Given the description of an element on the screen output the (x, y) to click on. 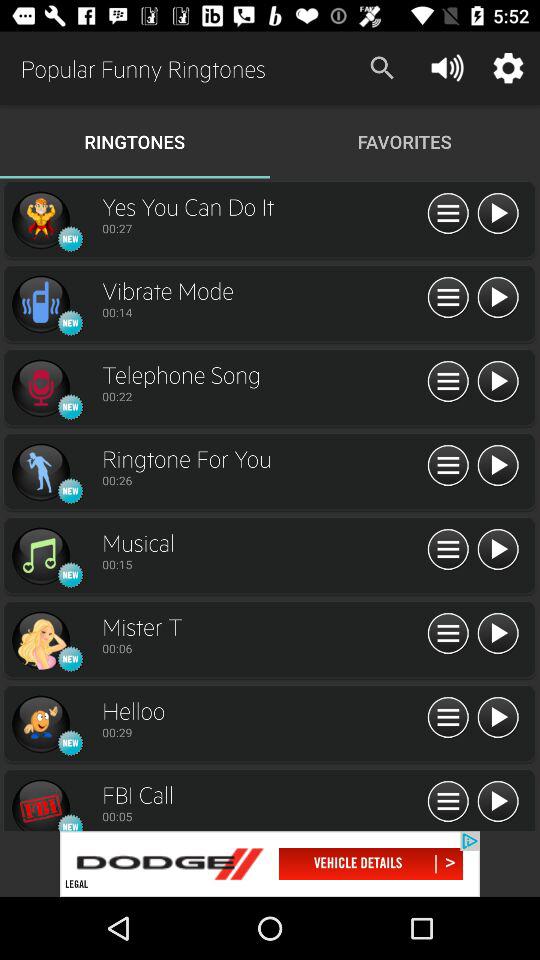
side menu (447, 213)
